Given the description of an element on the screen output the (x, y) to click on. 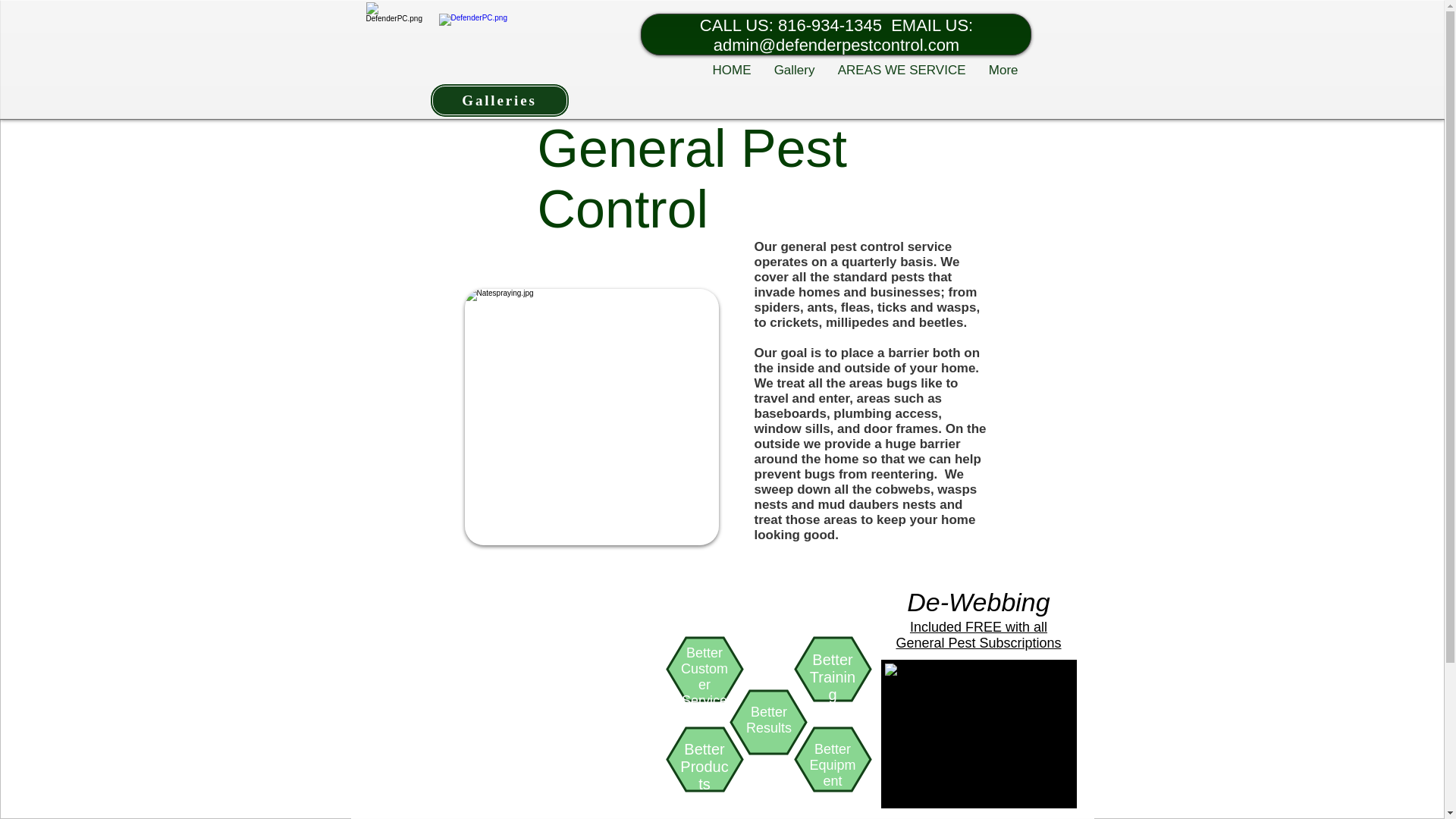
AREAS WE SERVICE (901, 69)
Galleries (499, 100)
Gallery (794, 69)
HOME (730, 69)
